Given the description of an element on the screen output the (x, y) to click on. 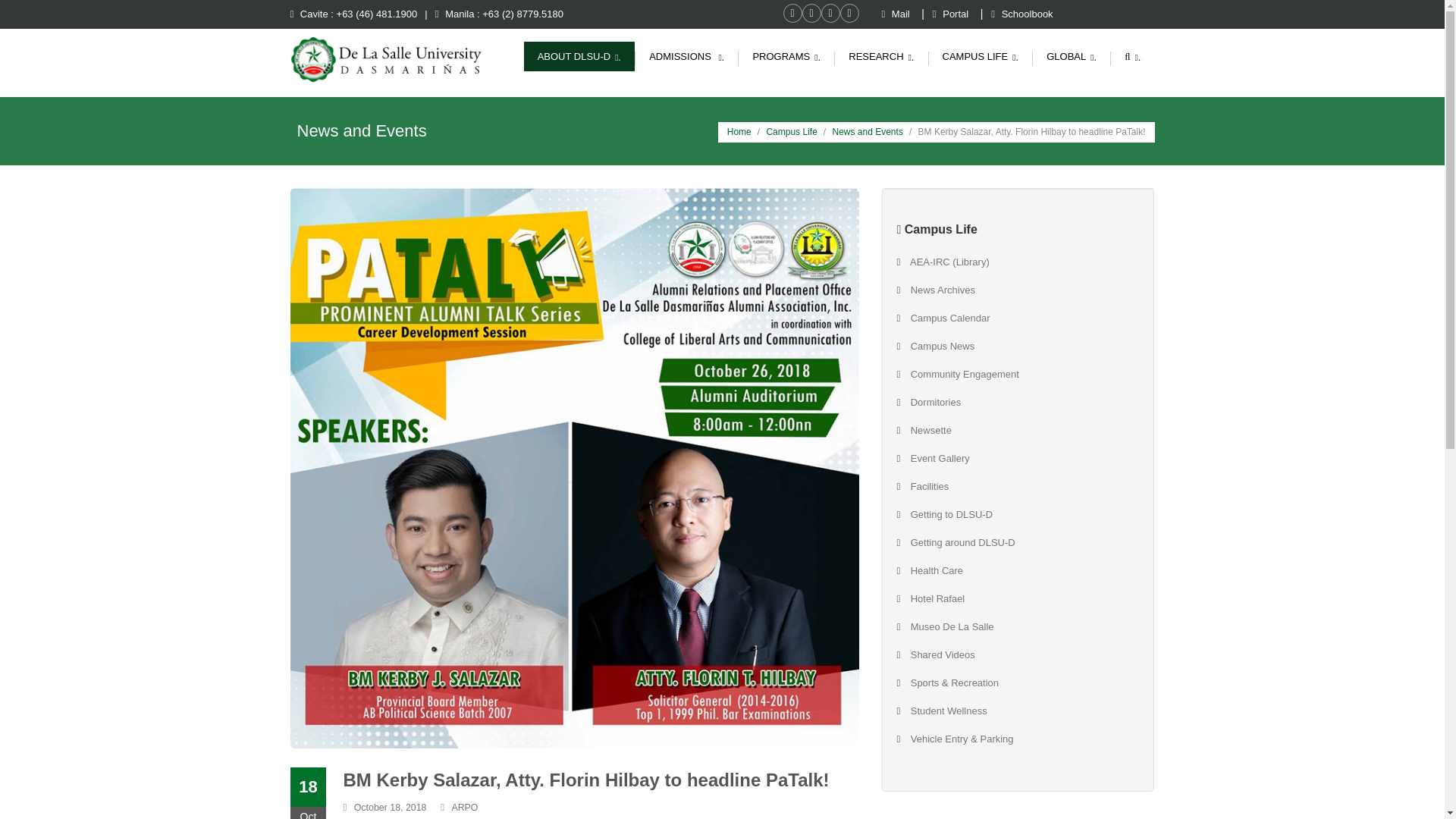
PROGRAMS... (786, 56)
ADMISSIONS ... (686, 56)
ABOUT DLSU-D... (579, 56)
Portal (952, 13)
Mail (896, 13)
Schoolbook (1021, 13)
